Given the description of an element on the screen output the (x, y) to click on. 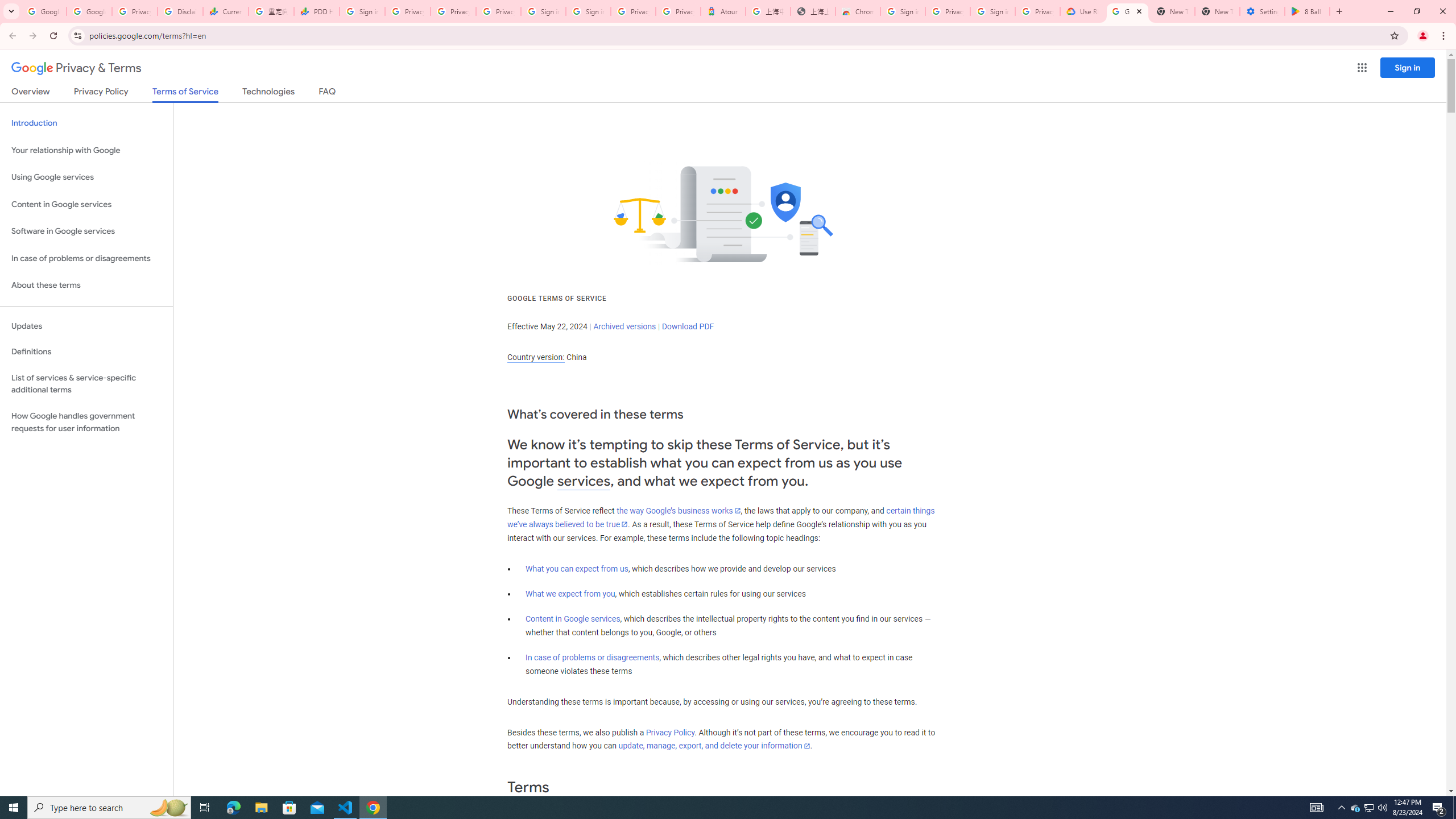
Sign in - Google Accounts (902, 11)
Settings - System (1262, 11)
Sign in - Google Accounts (992, 11)
New Tab (1216, 11)
PDD Holdings Inc - ADR (PDD) Price & News - Google Finance (316, 11)
Google Workspace Admin Community (43, 11)
Sign in - Google Accounts (587, 11)
